Given the description of an element on the screen output the (x, y) to click on. 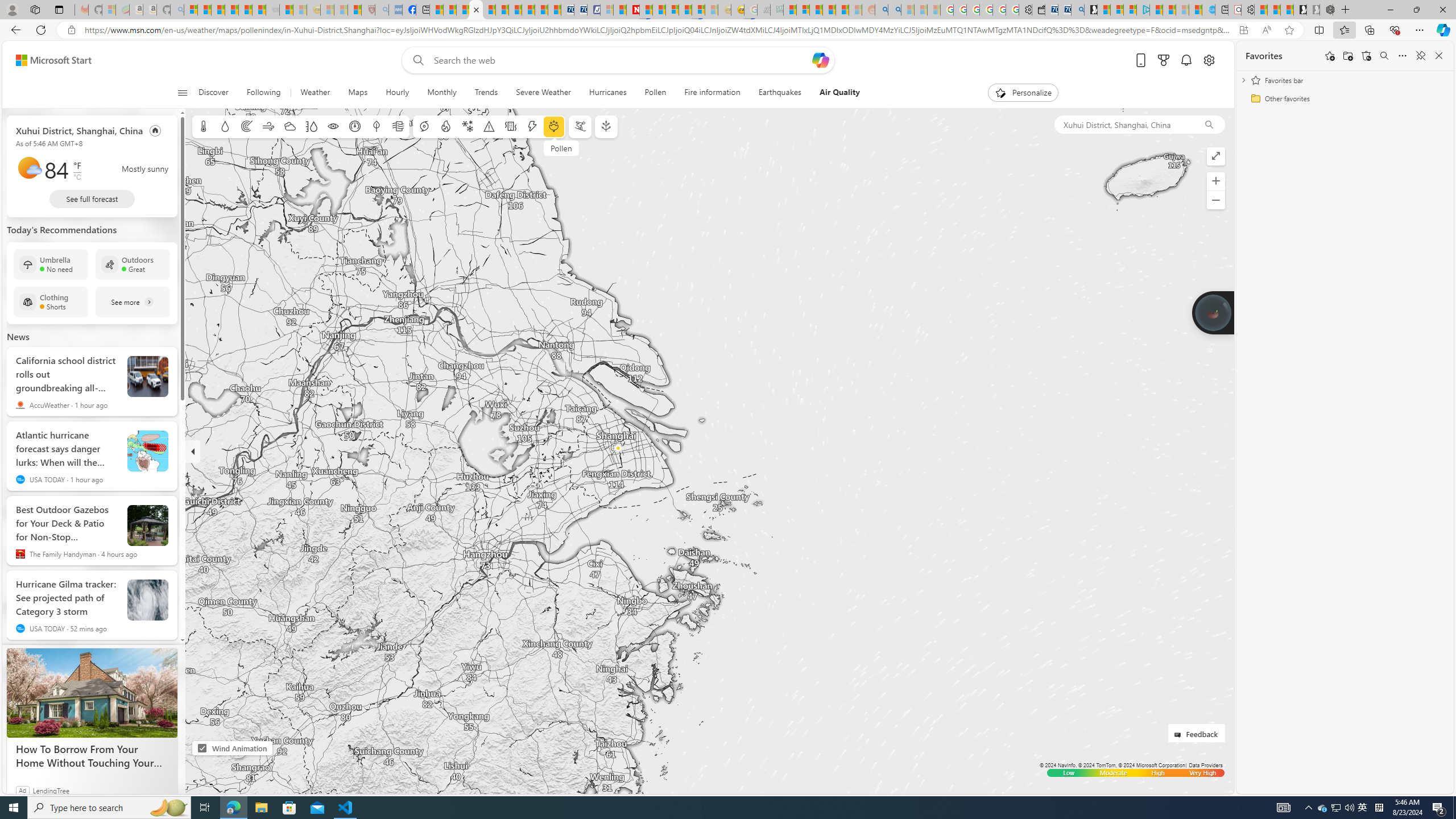
Wind (267, 126)
Bing Real Estate - Home sales and rental listings (1077, 9)
AccuWeather (20, 404)
USA TODAY (20, 628)
Latest Politics News & Archive | Newsweek.com (633, 9)
